Given the description of an element on the screen output the (x, y) to click on. 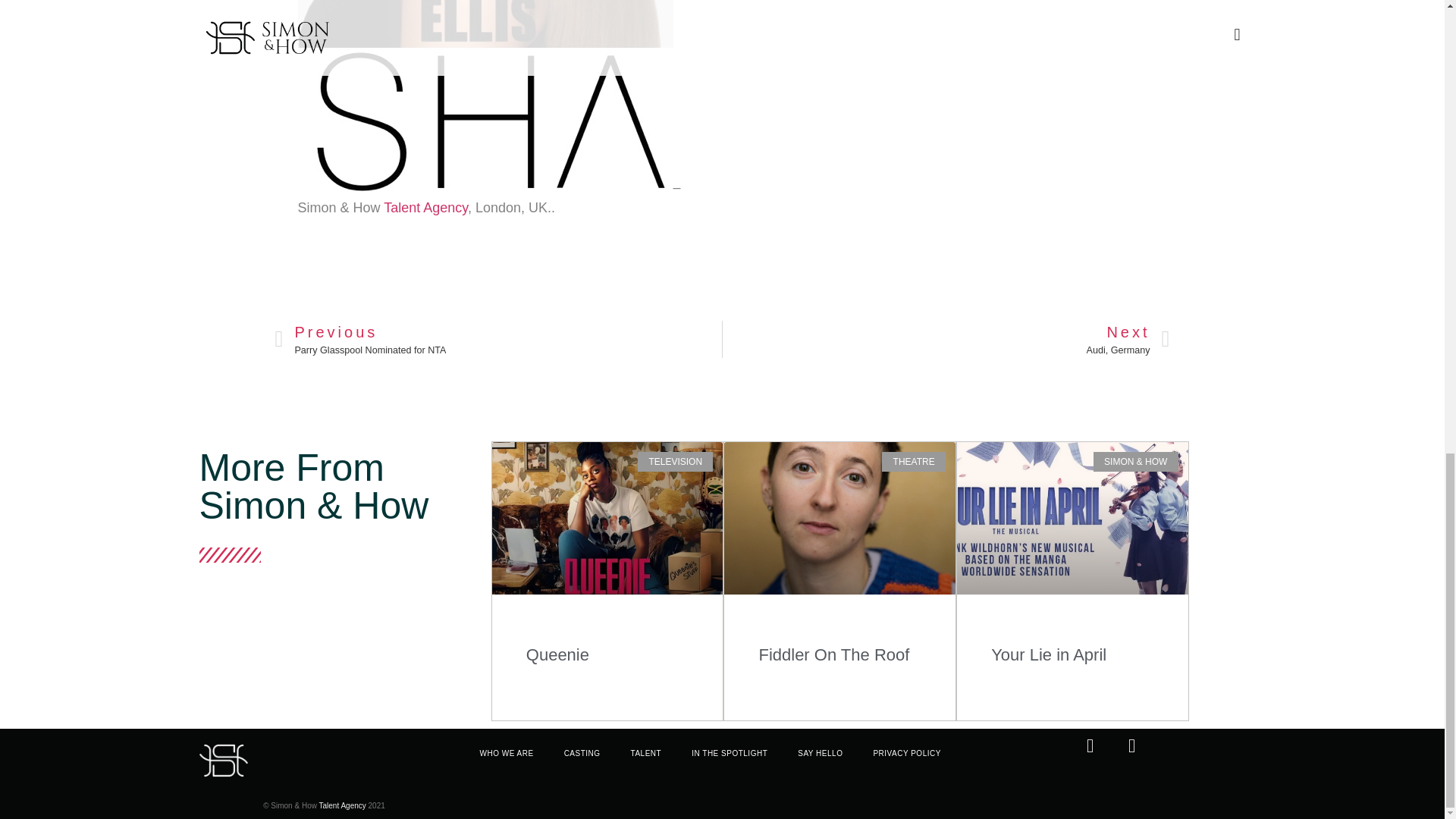
SAY HELLO (820, 753)
PRIVACY POLICY (906, 753)
Talent Agency (425, 207)
Your Lie in April  (498, 339)
TALENT (1050, 654)
Talent Agency (646, 753)
Queenie (425, 207)
CASTING (557, 654)
WHO WE ARE (581, 753)
IN THE SPOTLIGHT (506, 753)
Talent Agency (730, 753)
Fiddler On The Roof (342, 805)
